Given the description of an element on the screen output the (x, y) to click on. 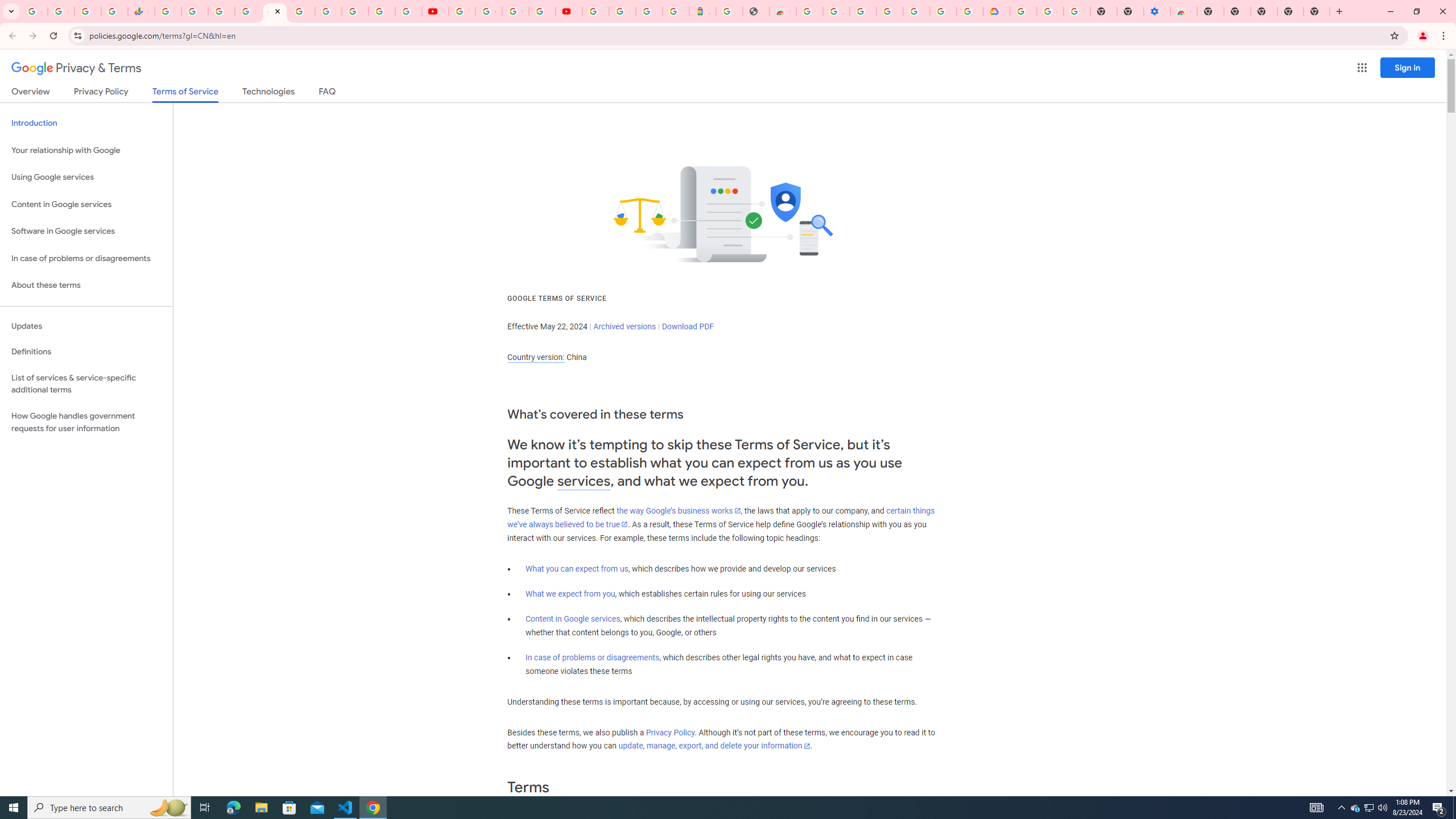
Ad Settings (836, 11)
About these terms (86, 284)
How Google handles government requests for user information (86, 422)
Archived versions (624, 326)
Sign in - Google Accounts (622, 11)
